Given the description of an element on the screen output the (x, y) to click on. 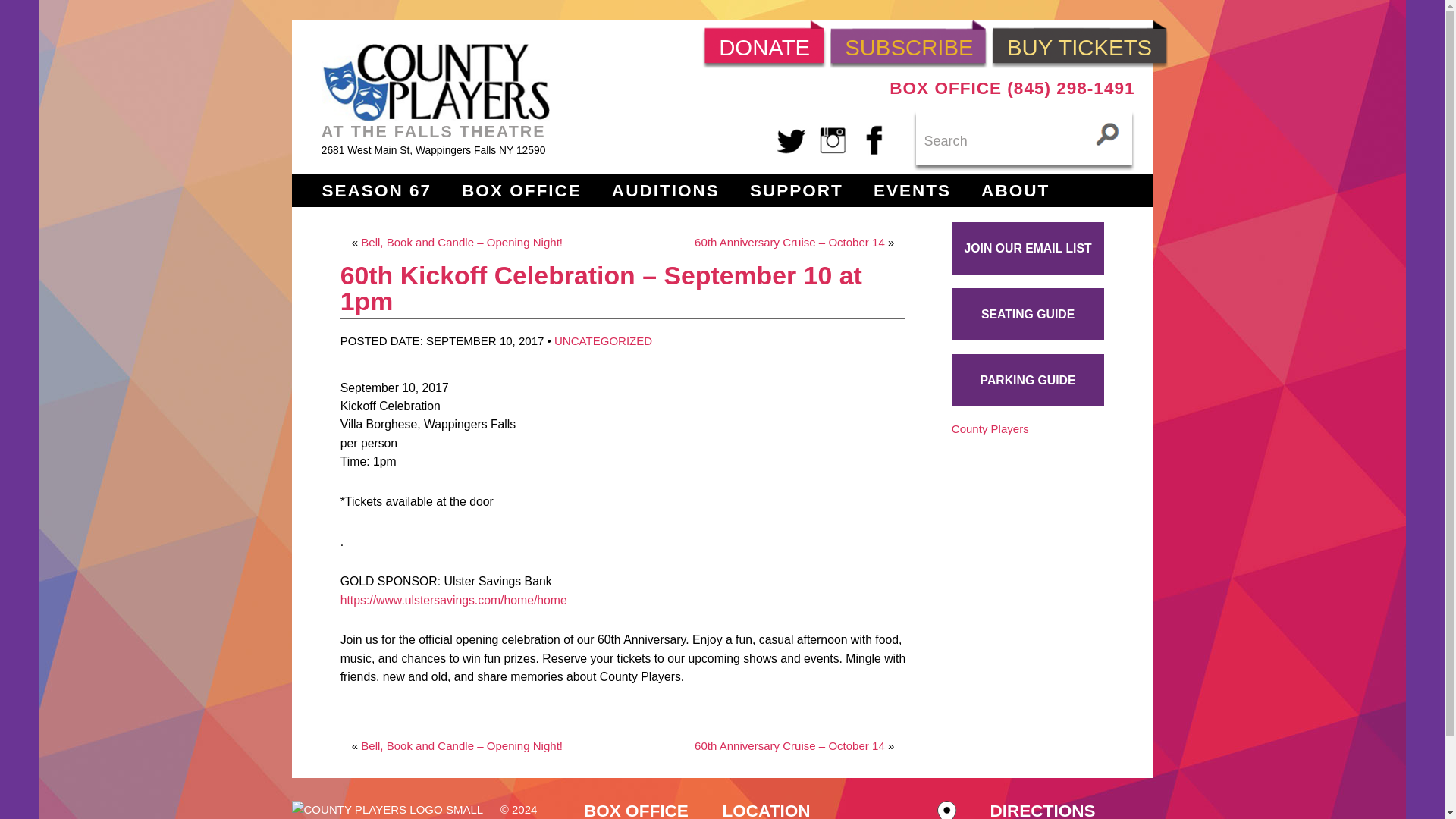
Instagram (832, 139)
AUDITIONS (665, 190)
EVENTS (911, 190)
BOX OFFICE (520, 190)
SUBSCRIBE (908, 43)
SEASON 67 (375, 190)
Twitter (792, 139)
BUY TICKETS (1079, 43)
Search (1023, 140)
Buy Tickets (1079, 43)
UNCATEGORIZED (603, 340)
ABOUT (1015, 190)
DONATE (764, 43)
Like Us On Facebook (874, 139)
County Players at the Falls Theatre (435, 82)
